Given the description of an element on the screen output the (x, y) to click on. 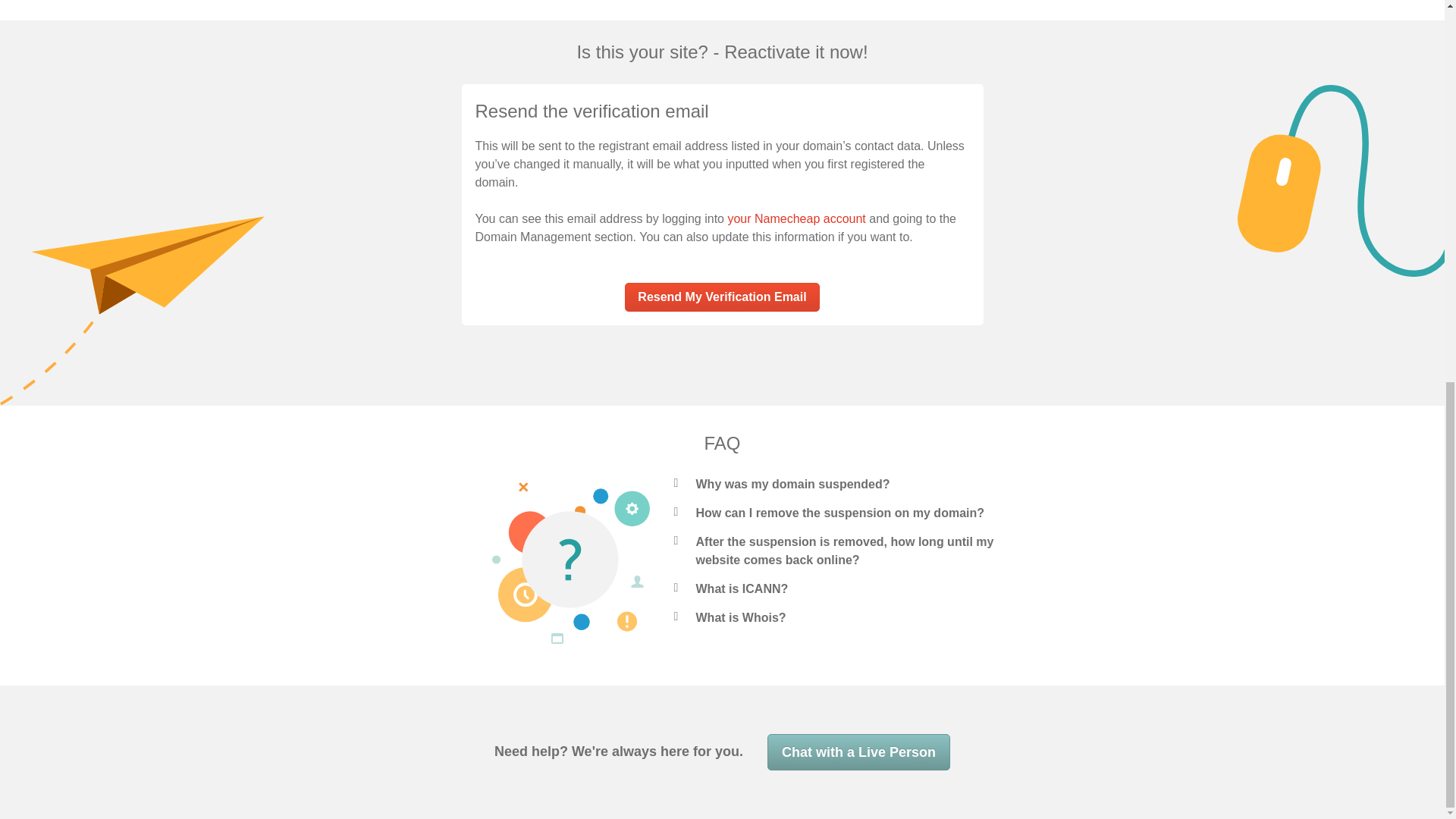
Chat with a Live Person (858, 751)
Resend My Verification Email (721, 297)
your Namecheap account (795, 218)
